Given the description of an element on the screen output the (x, y) to click on. 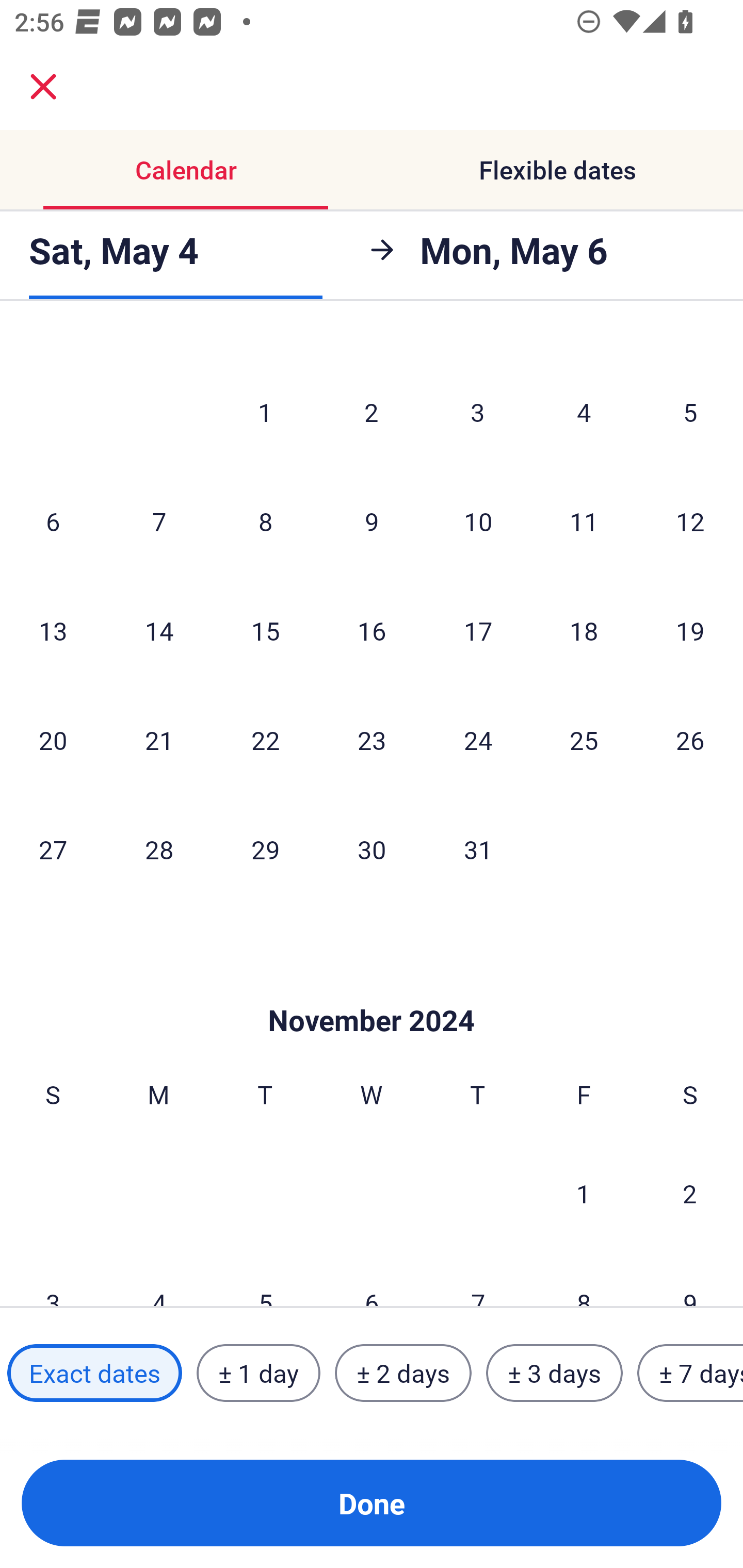
close. (43, 86)
Flexible dates (557, 170)
1 Tuesday, October 1, 2024 (264, 411)
2 Wednesday, October 2, 2024 (371, 411)
3 Thursday, October 3, 2024 (477, 411)
4 Friday, October 4, 2024 (584, 411)
5 Saturday, October 5, 2024 (690, 411)
6 Sunday, October 6, 2024 (53, 520)
7 Monday, October 7, 2024 (159, 520)
8 Tuesday, October 8, 2024 (265, 520)
9 Wednesday, October 9, 2024 (371, 520)
10 Thursday, October 10, 2024 (477, 520)
11 Friday, October 11, 2024 (584, 520)
12 Saturday, October 12, 2024 (690, 520)
13 Sunday, October 13, 2024 (53, 630)
14 Monday, October 14, 2024 (159, 630)
15 Tuesday, October 15, 2024 (265, 630)
16 Wednesday, October 16, 2024 (371, 630)
17 Thursday, October 17, 2024 (477, 630)
18 Friday, October 18, 2024 (584, 630)
19 Saturday, October 19, 2024 (690, 630)
20 Sunday, October 20, 2024 (53, 739)
21 Monday, October 21, 2024 (159, 739)
22 Tuesday, October 22, 2024 (265, 739)
23 Wednesday, October 23, 2024 (371, 739)
24 Thursday, October 24, 2024 (477, 739)
25 Friday, October 25, 2024 (584, 739)
26 Saturday, October 26, 2024 (690, 739)
27 Sunday, October 27, 2024 (53, 848)
28 Monday, October 28, 2024 (159, 848)
29 Tuesday, October 29, 2024 (265, 848)
30 Wednesday, October 30, 2024 (371, 848)
31 Thursday, October 31, 2024 (477, 848)
Skip to Done (371, 990)
1 Friday, November 1, 2024 (583, 1192)
2 Saturday, November 2, 2024 (689, 1192)
Exact dates (94, 1372)
± 1 day (258, 1372)
± 2 days (403, 1372)
± 3 days (553, 1372)
± 7 days (690, 1372)
Done (371, 1502)
